Given the description of an element on the screen output the (x, y) to click on. 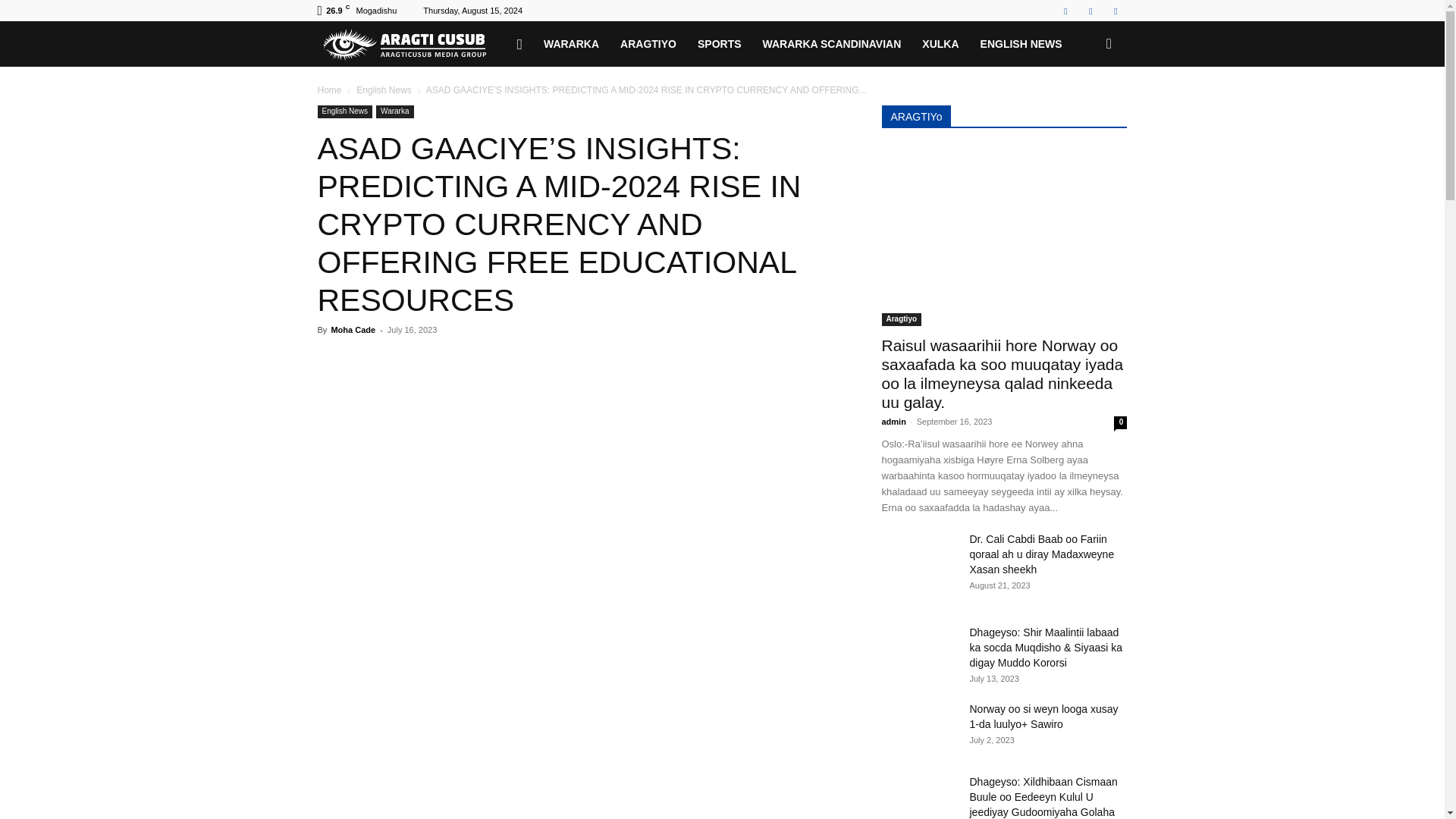
Moha Cade (352, 329)
Twitter (1090, 10)
Youtube (1114, 10)
ARAGTIYO (648, 43)
Home (328, 90)
Wararka (394, 111)
English News (344, 111)
View all posts in English News (384, 90)
SPORTS (719, 43)
WARARKA SCANDINAVIAN (832, 43)
